Given the description of an element on the screen output the (x, y) to click on. 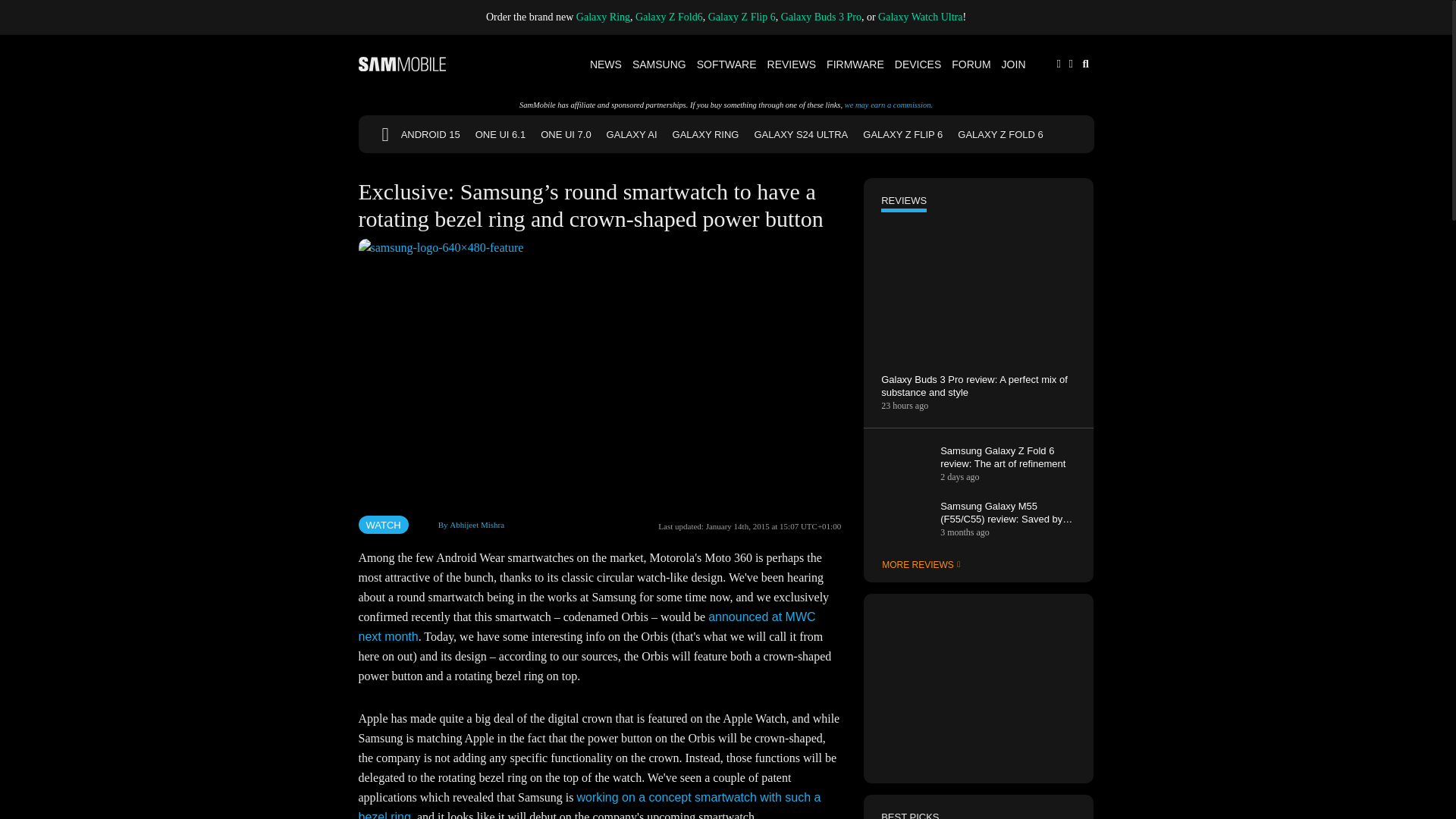
SAMSUNG (659, 64)
Samsung (659, 64)
Galaxy Z Flip 6 (741, 16)
Galaxy Buds 3 Pro (820, 16)
SamMobile logo (401, 63)
Galaxy Watch Ultra (919, 16)
Galaxy Z Fold6 (668, 16)
Galaxy Ring (603, 16)
